Given the description of an element on the screen output the (x, y) to click on. 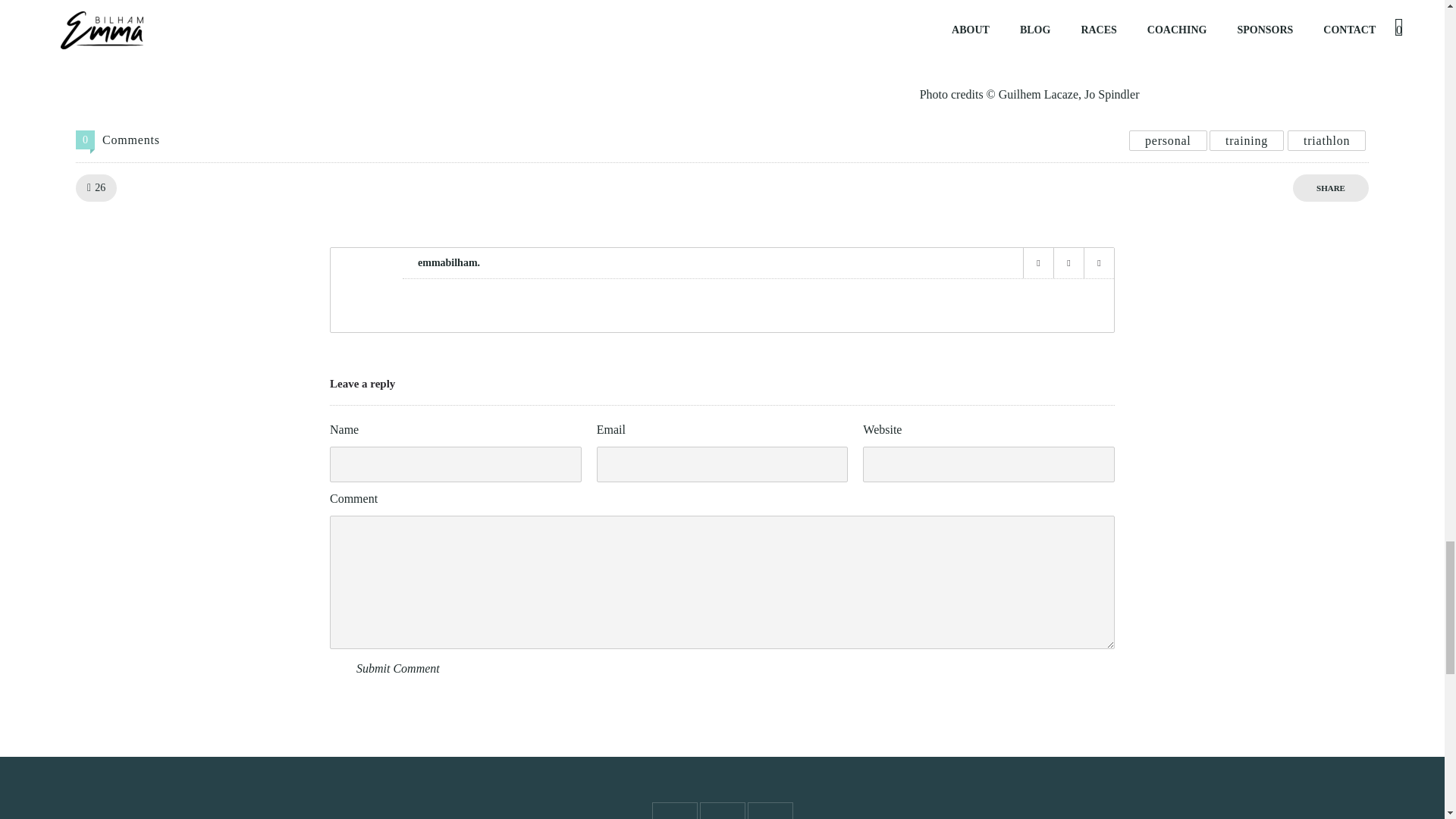
Instagram (1067, 263)
Facebook (1037, 263)
triathlon (1326, 140)
0 (84, 139)
Submit Comment (397, 668)
training (1245, 140)
Linked In (1098, 263)
personal (1168, 140)
